Given the description of an element on the screen output the (x, y) to click on. 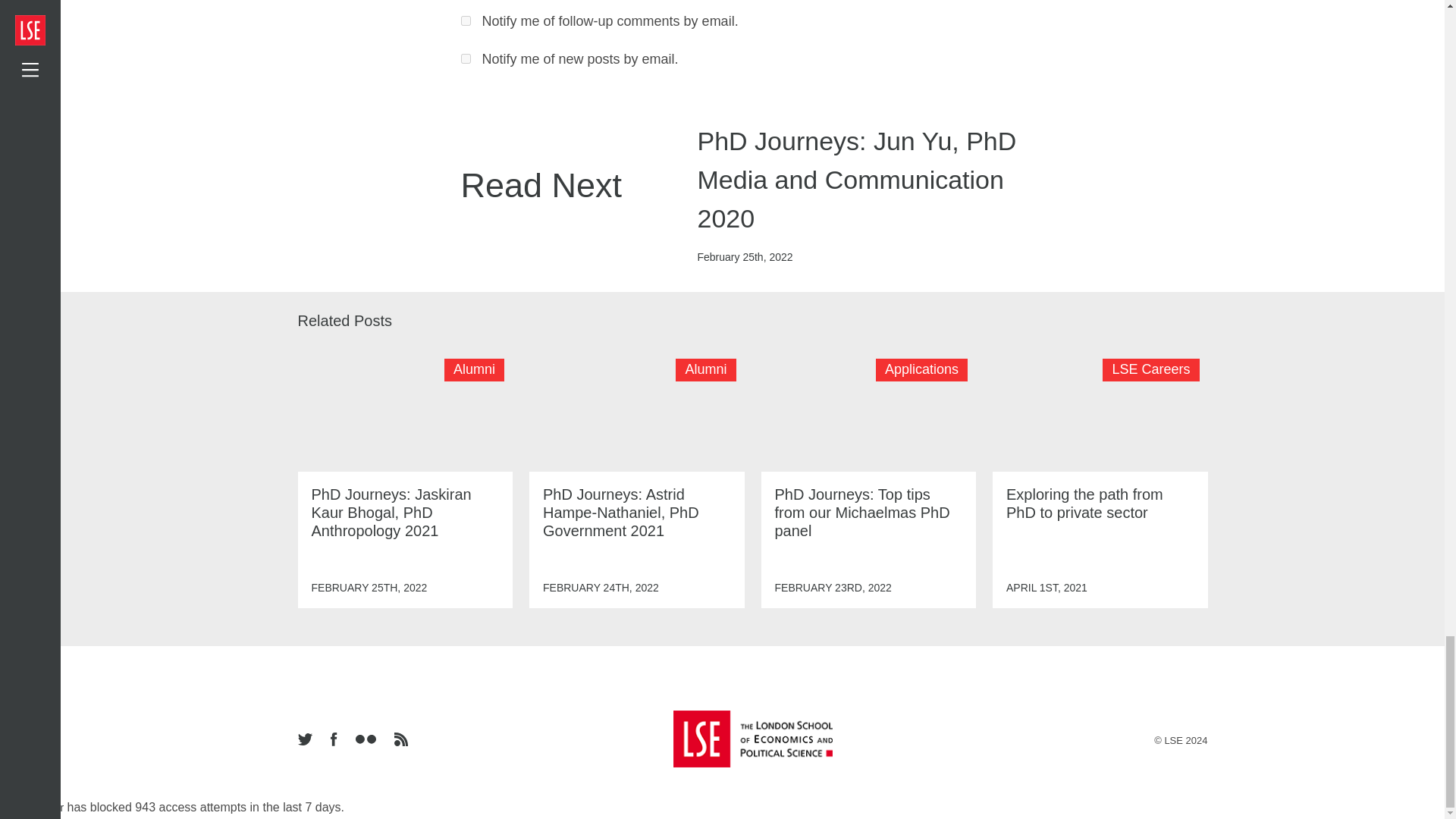
flickr (365, 740)
rss (400, 740)
subscribe (465, 58)
subscribe (465, 20)
